Given the description of an element on the screen output the (x, y) to click on. 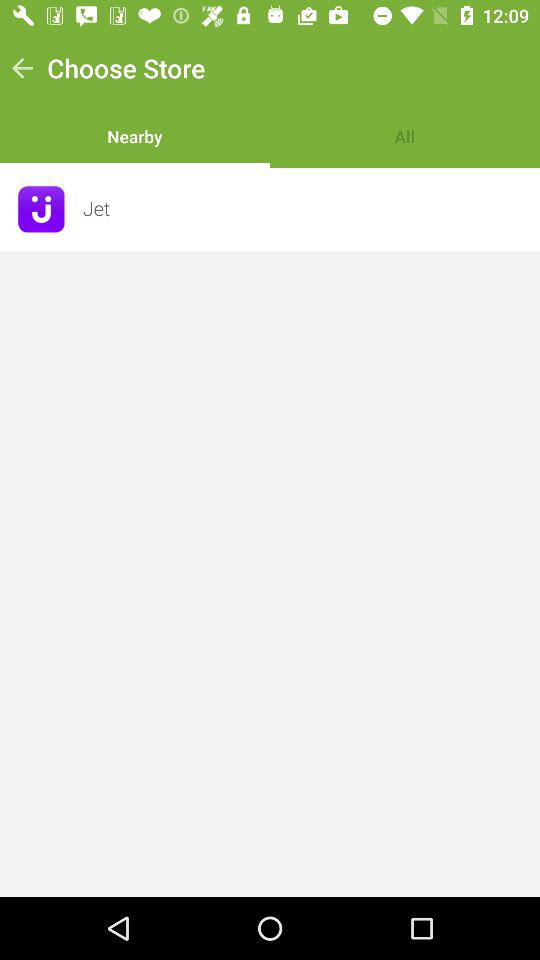
select item next to the jet (41, 209)
